Given the description of an element on the screen output the (x, y) to click on. 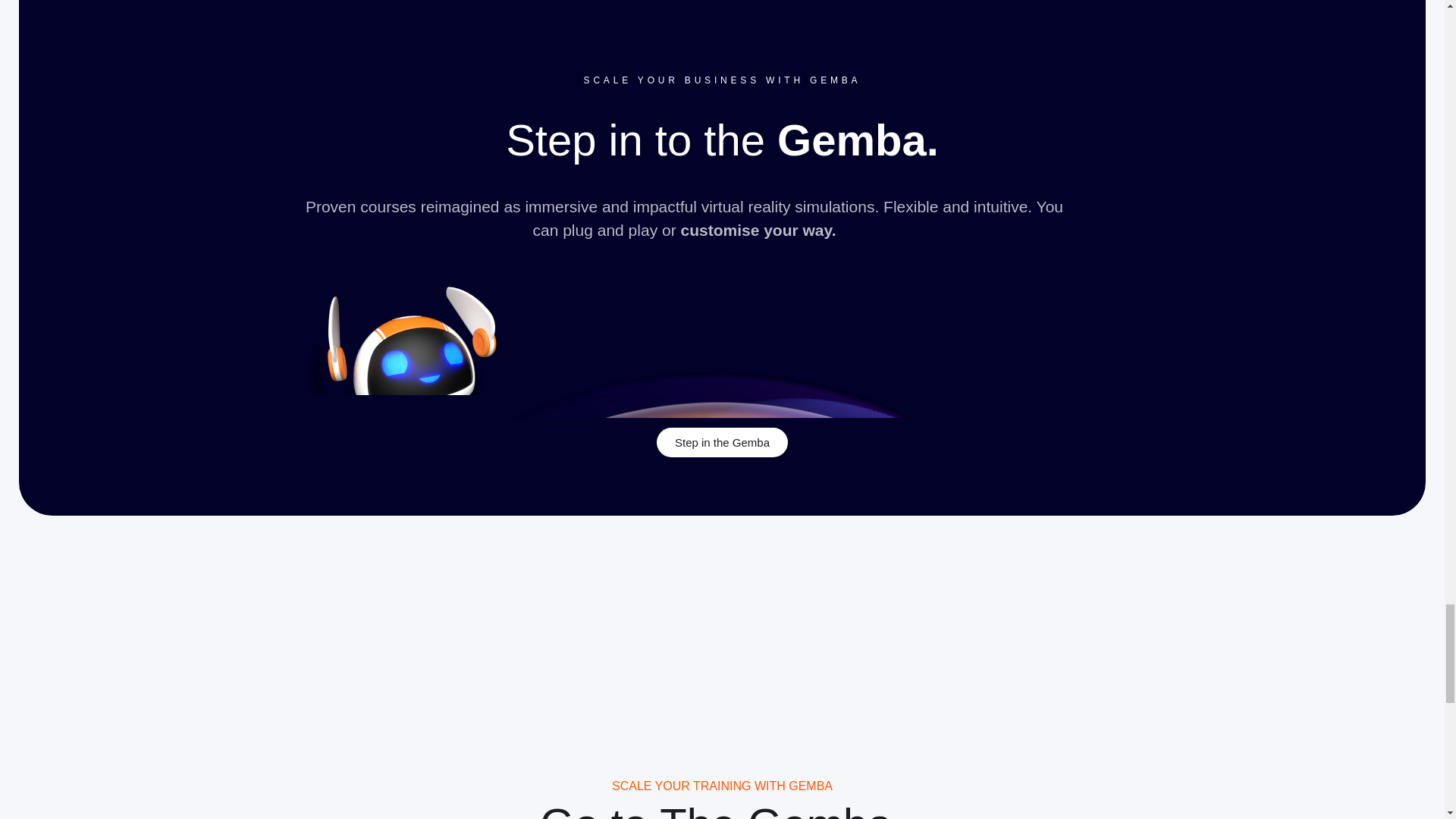
SCALE YOUR TRAINING WITH GEMBA (721, 785)
Step in the Gemba (721, 442)
Go to The Gemba. (721, 808)
Step in the Gemba (721, 442)
Step in to the Gemba. (722, 145)
